Given the description of an element on the screen output the (x, y) to click on. 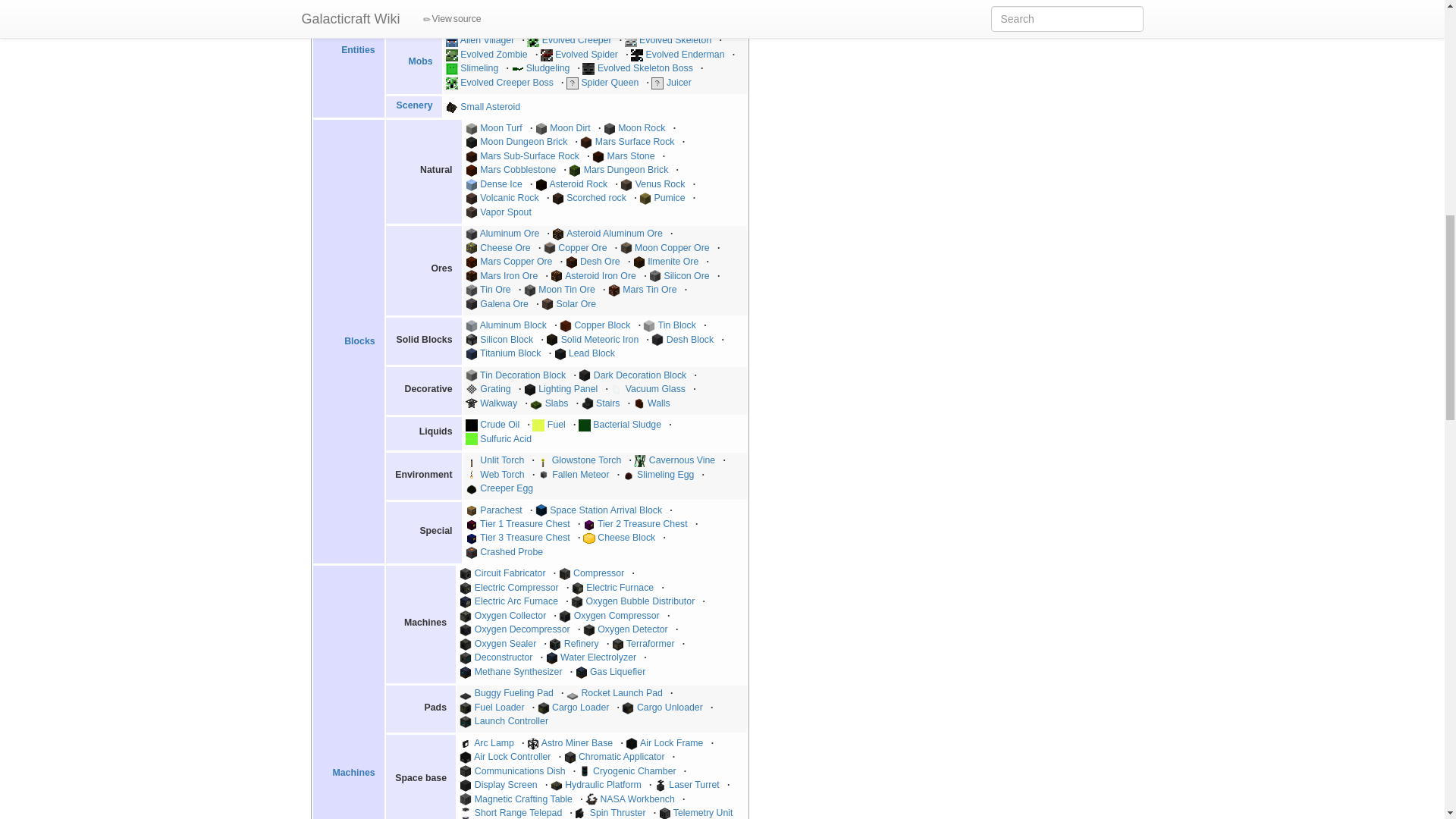
Entities (357, 50)
Vehicles (413, 4)
